Given the description of an element on the screen output the (x, y) to click on. 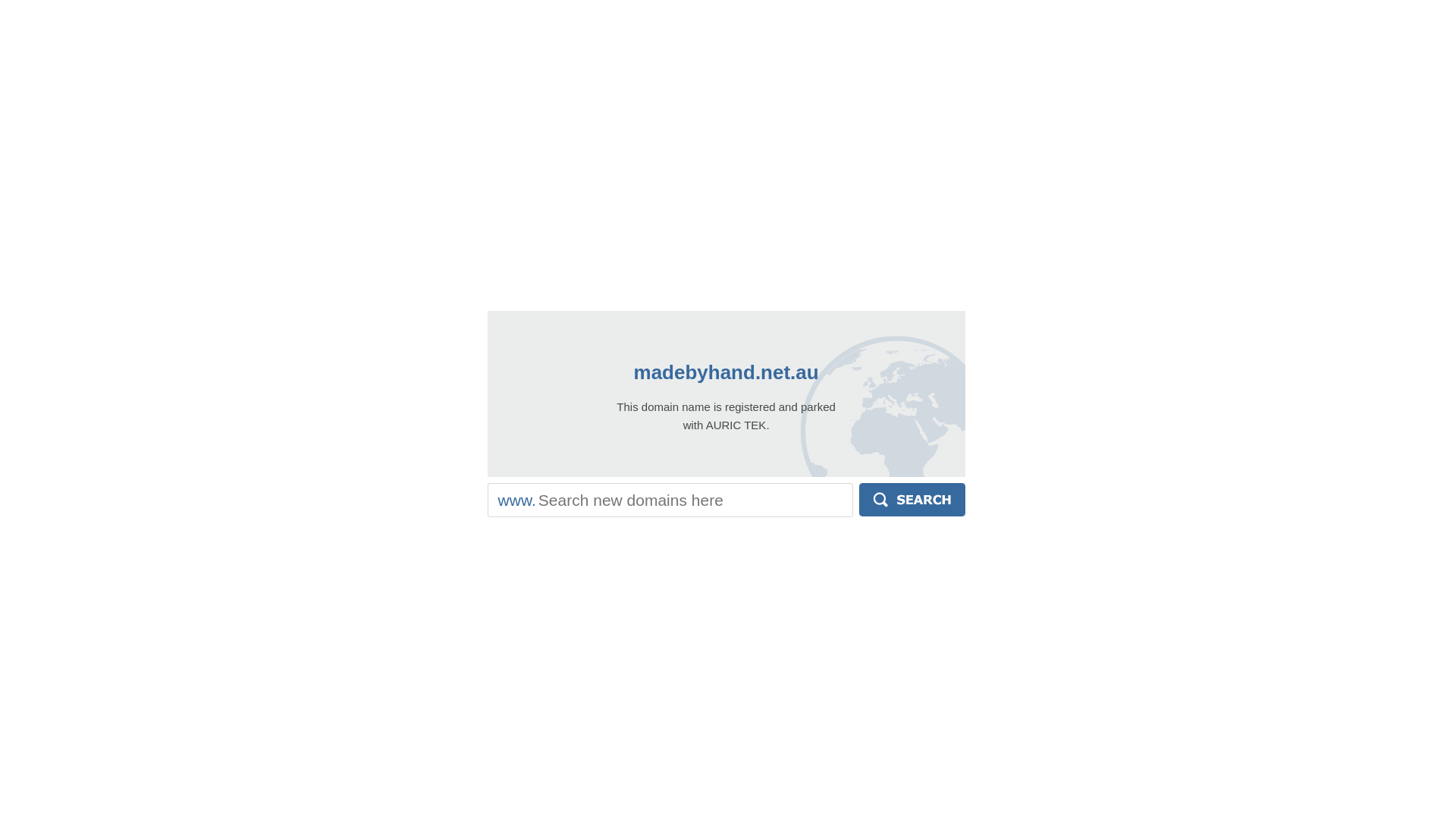
Search Element type: text (912, 499)
